Given the description of an element on the screen output the (x, y) to click on. 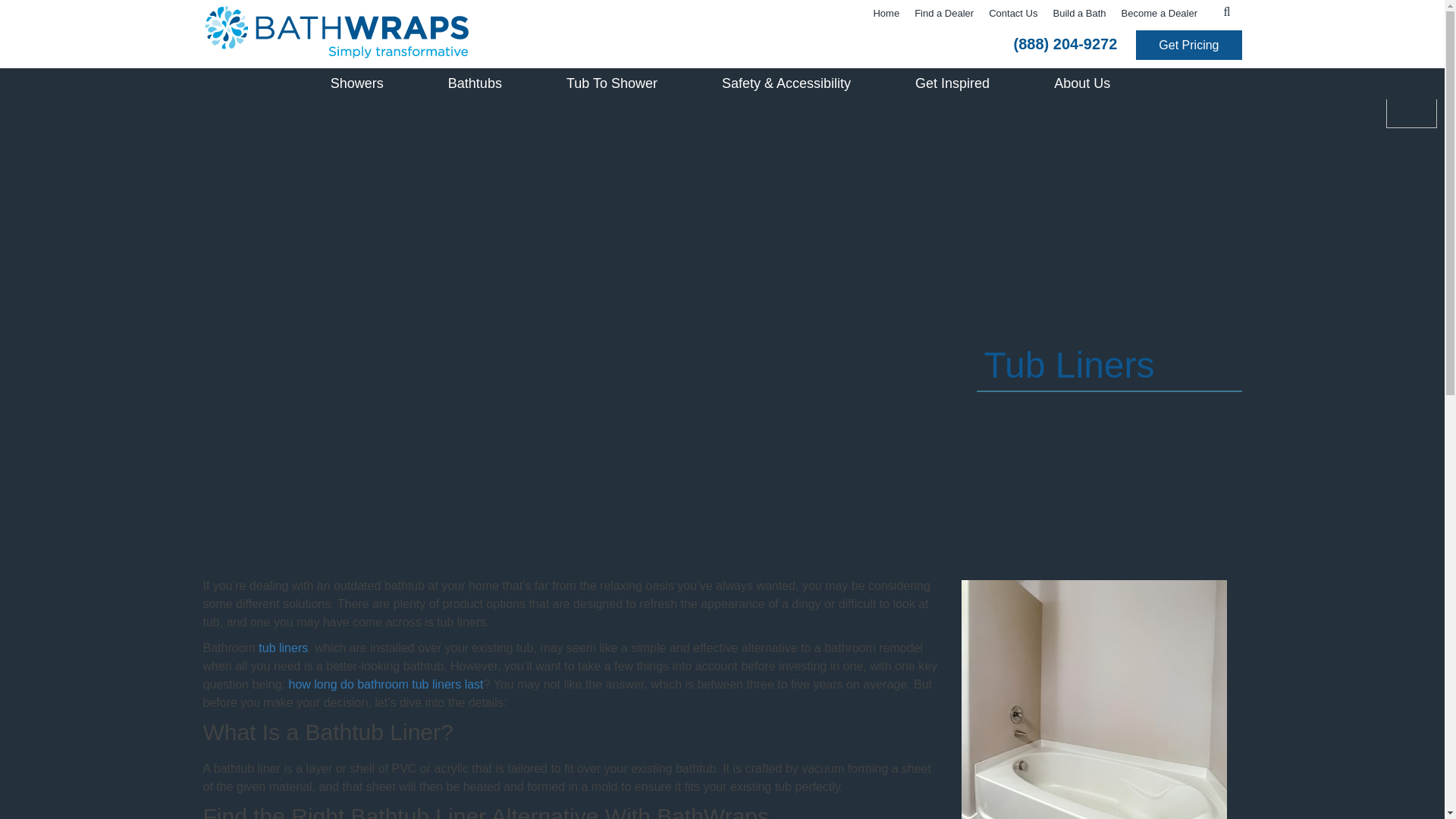
Tub To Shower (611, 83)
Build a Bath (1079, 13)
Get Pricing (1188, 44)
Bathtubs (474, 83)
BathWraps (426, 31)
About Us (1081, 83)
how long do bathroom tub liners last (385, 684)
Do Tub Liners Hold Up Well? (1093, 699)
Contact Us (1013, 13)
Home (885, 13)
